Given the description of an element on the screen output the (x, y) to click on. 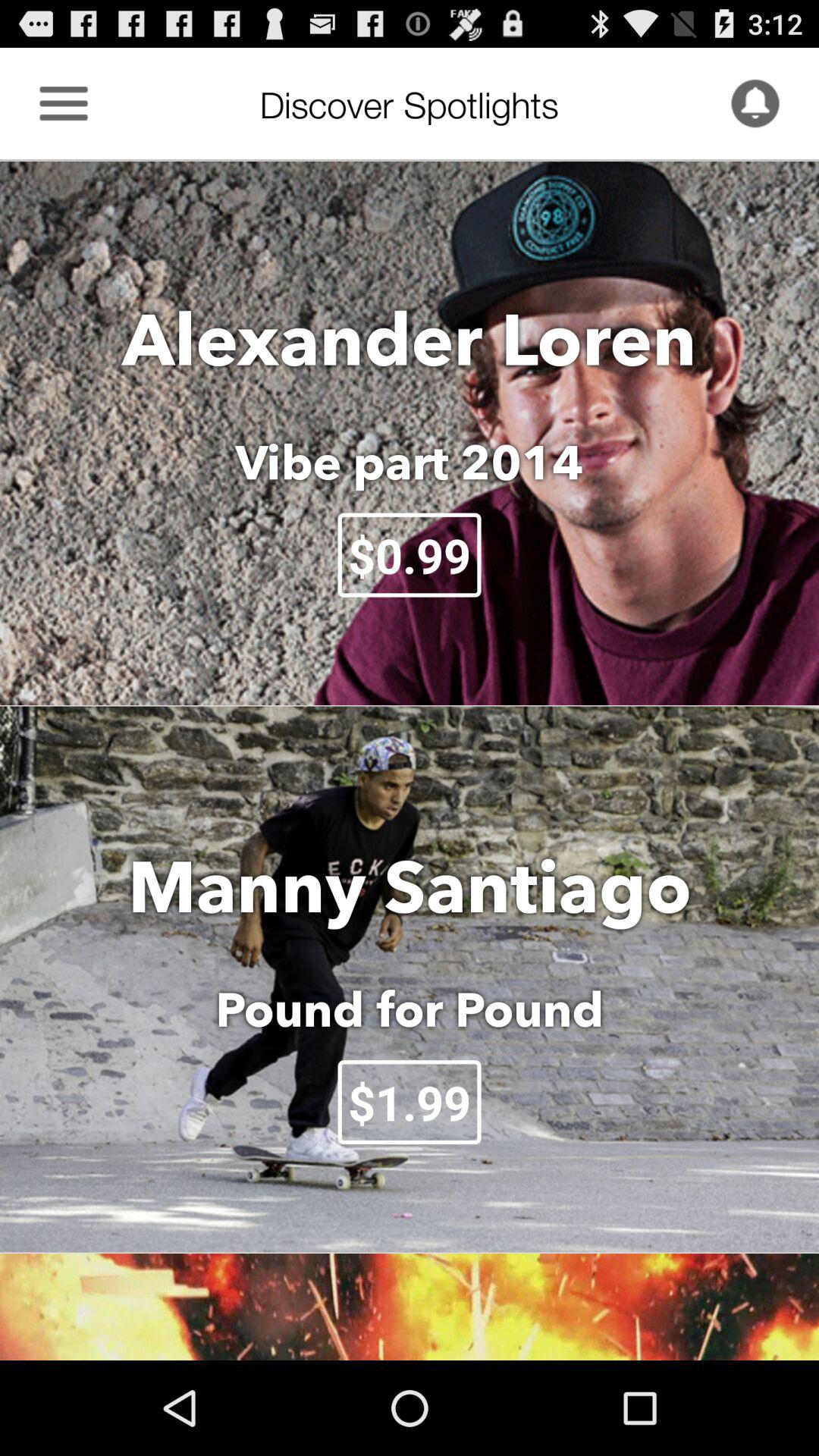
click menu option (63, 103)
